Given the description of an element on the screen output the (x, y) to click on. 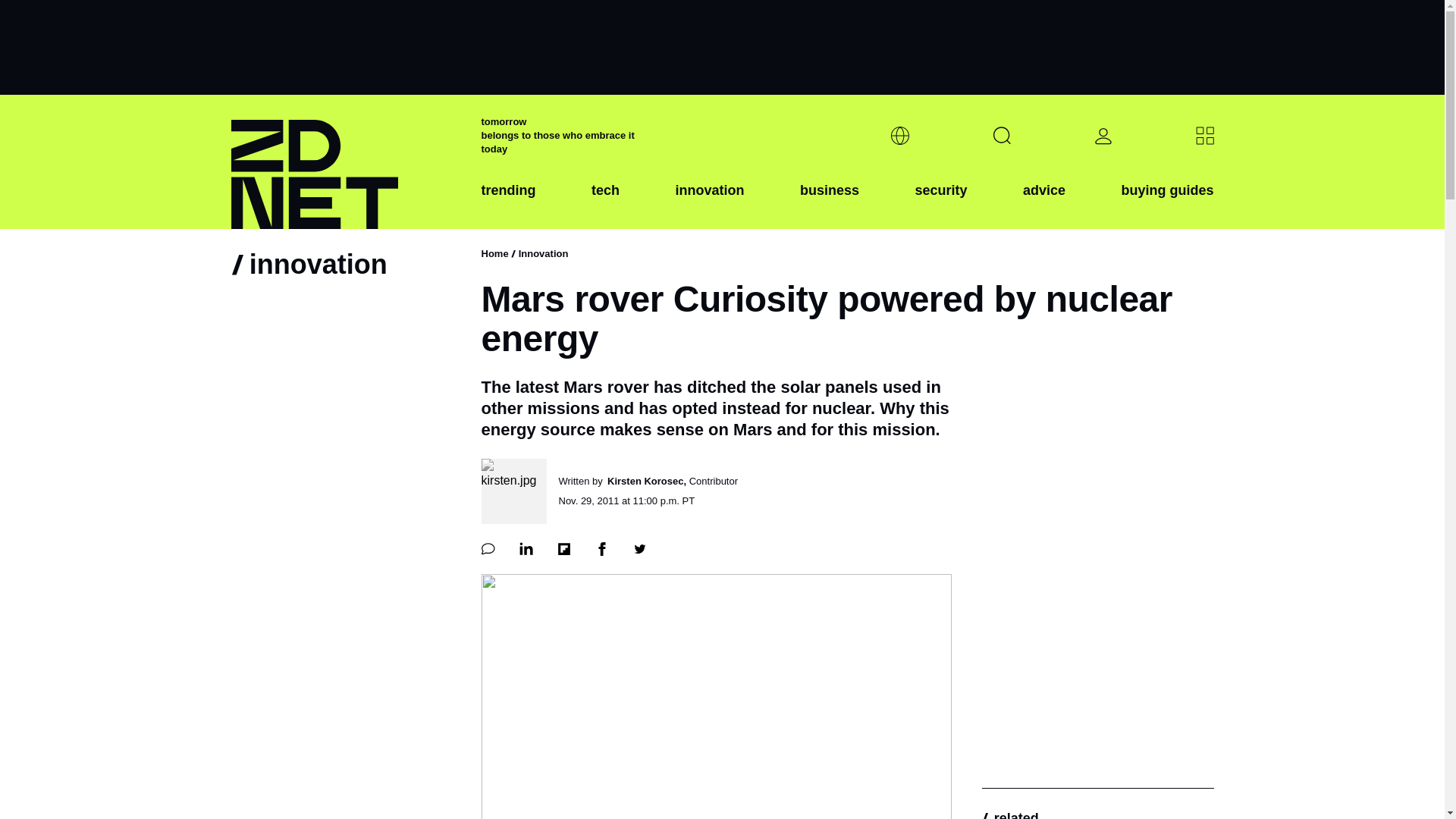
trending (507, 202)
ZDNET (346, 162)
